Given the description of an element on the screen output the (x, y) to click on. 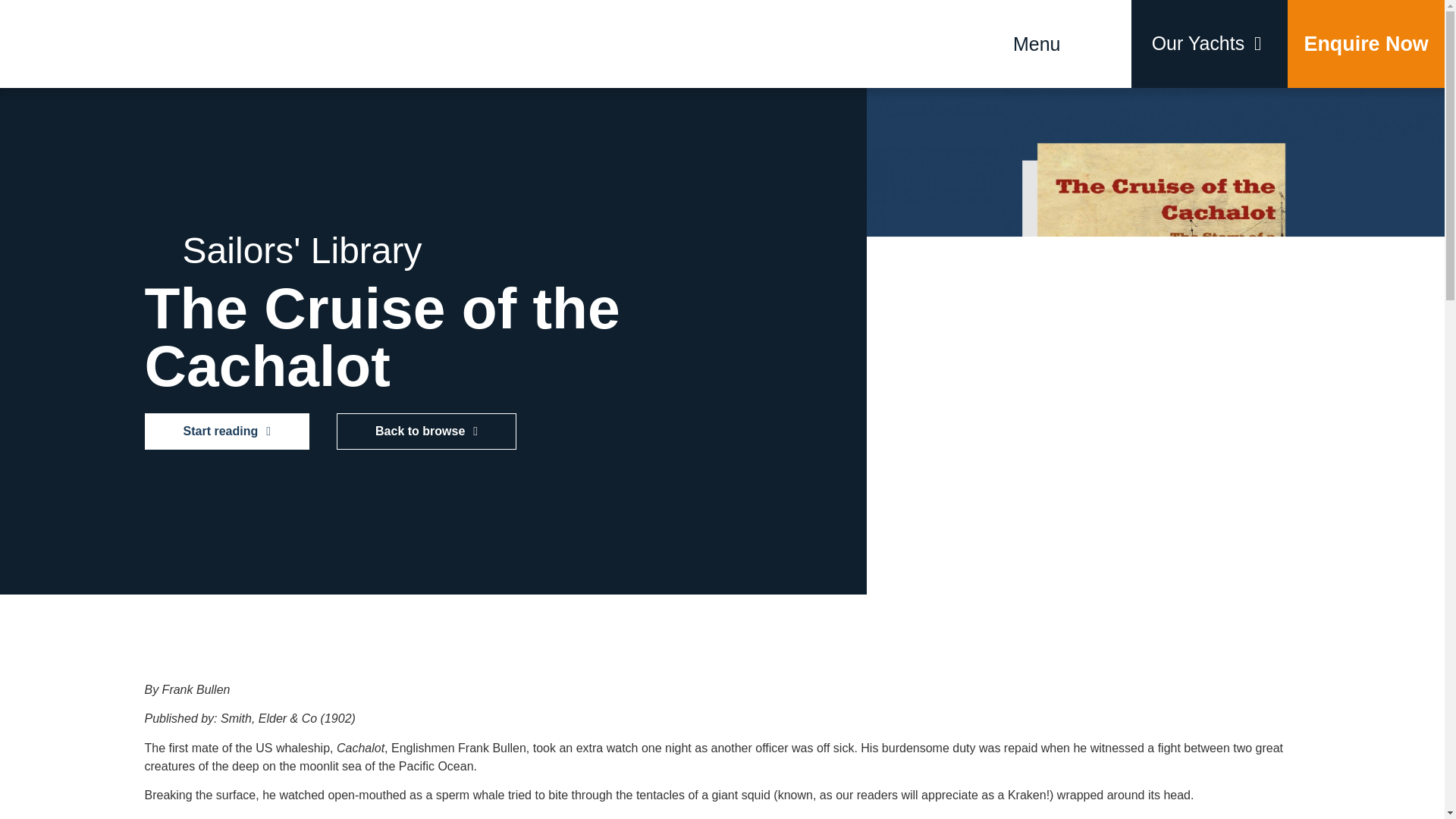
Start reading (226, 431)
Menu (1036, 43)
Back to browse (426, 431)
